Given the description of an element on the screen output the (x, y) to click on. 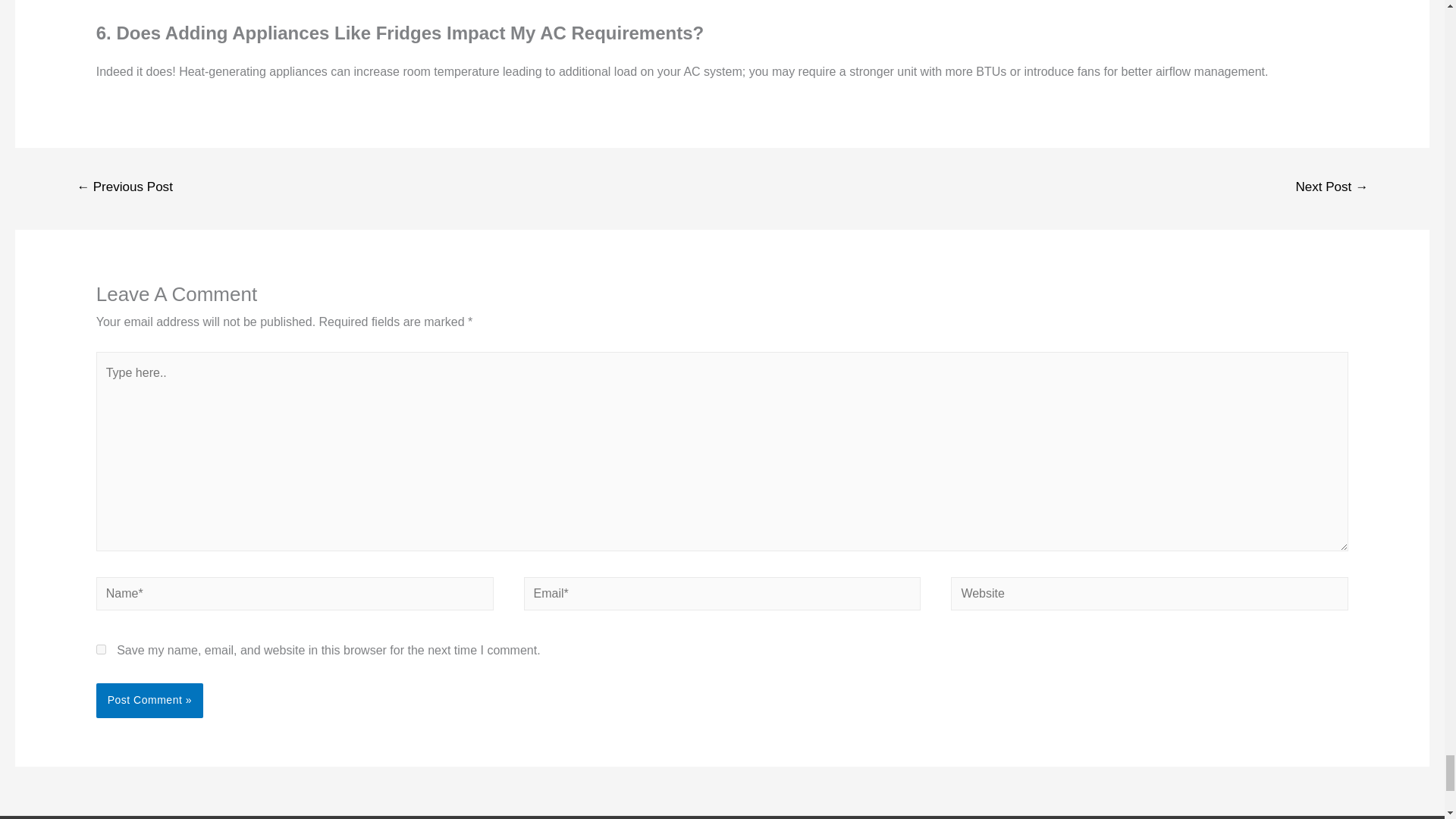
yes (101, 649)
